Given the description of an element on the screen output the (x, y) to click on. 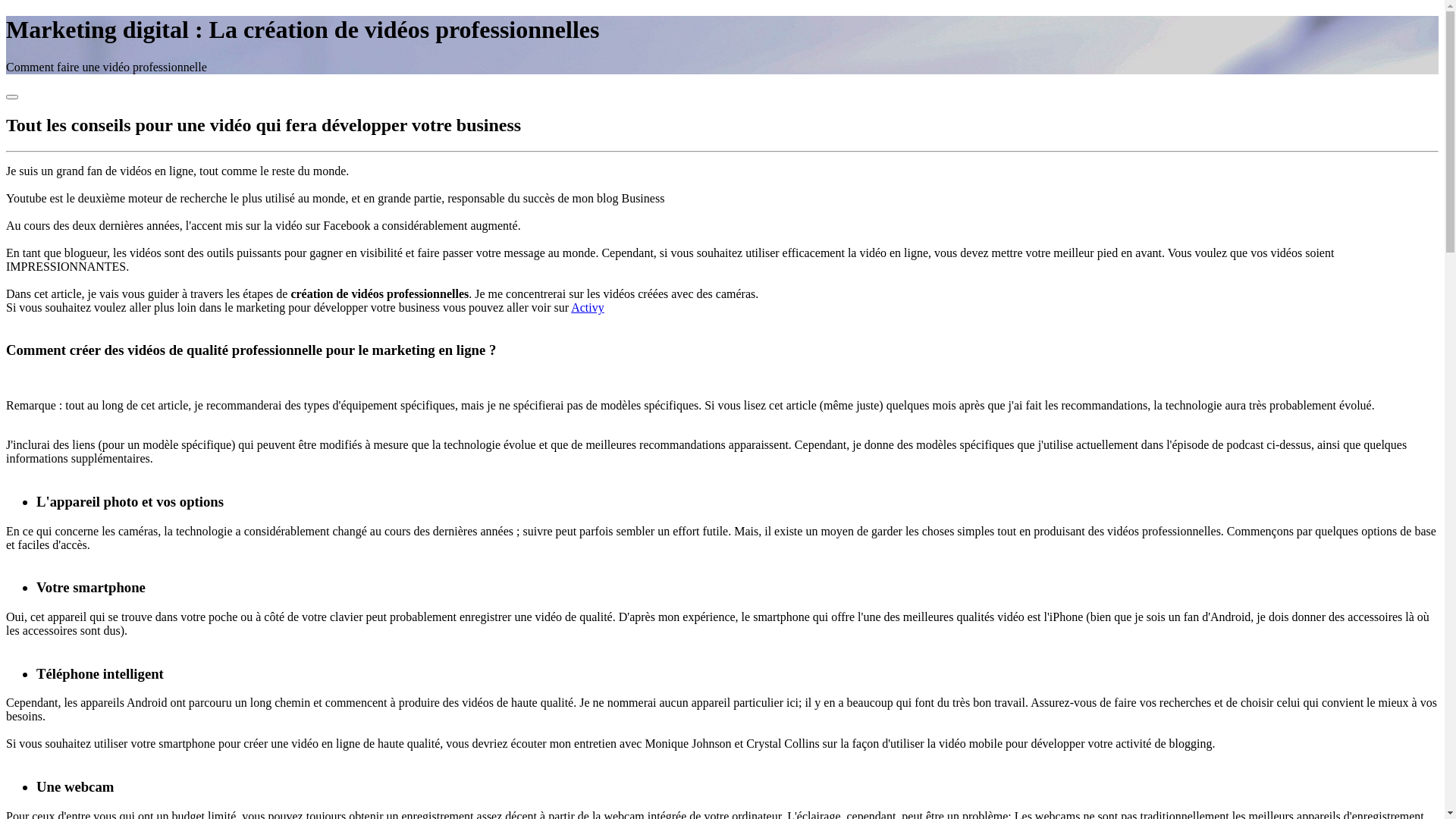
Activy Element type: text (587, 307)
